Given the description of an element on the screen output the (x, y) to click on. 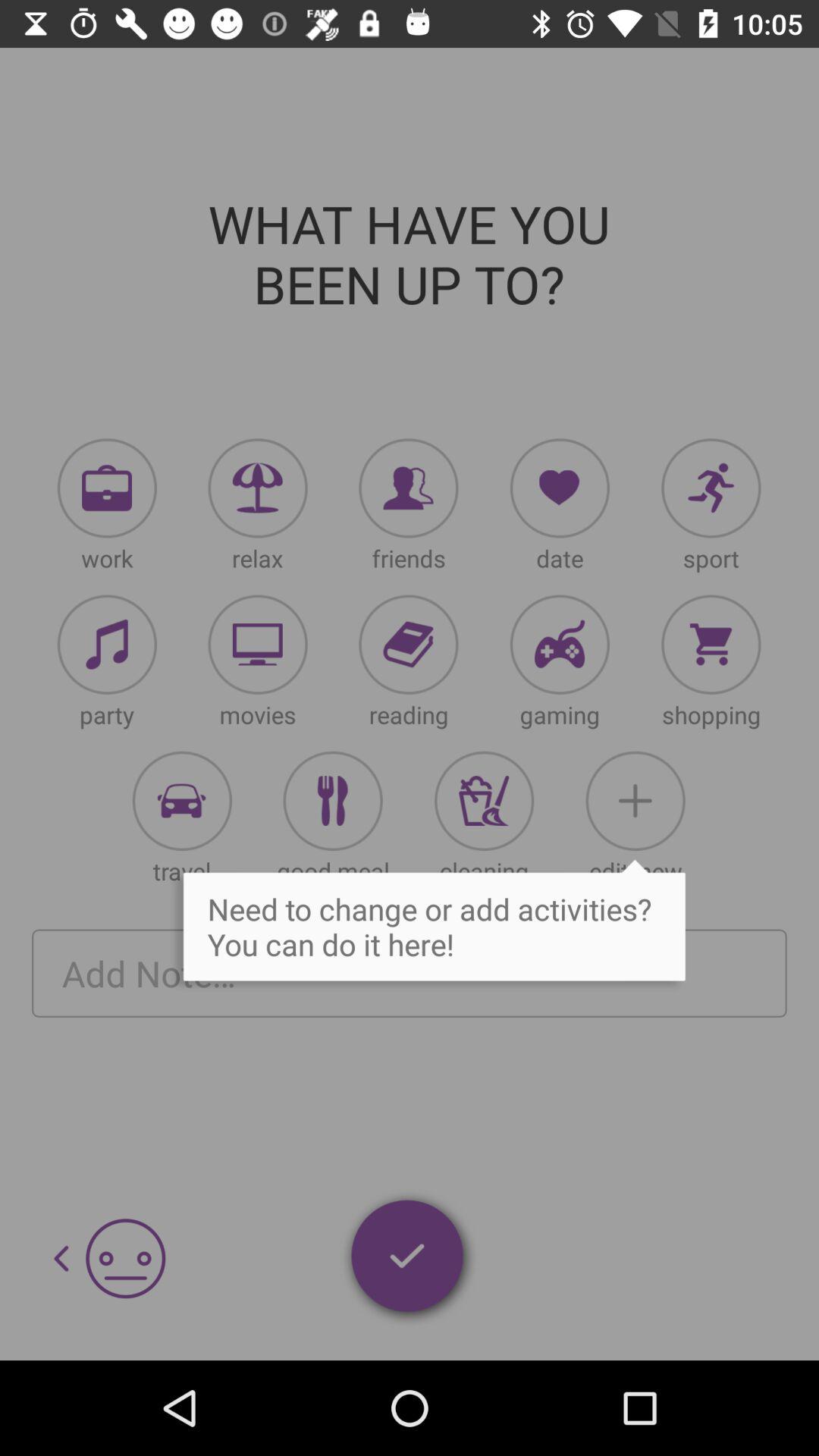
relax icon (257, 488)
